Given the description of an element on the screen output the (x, y) to click on. 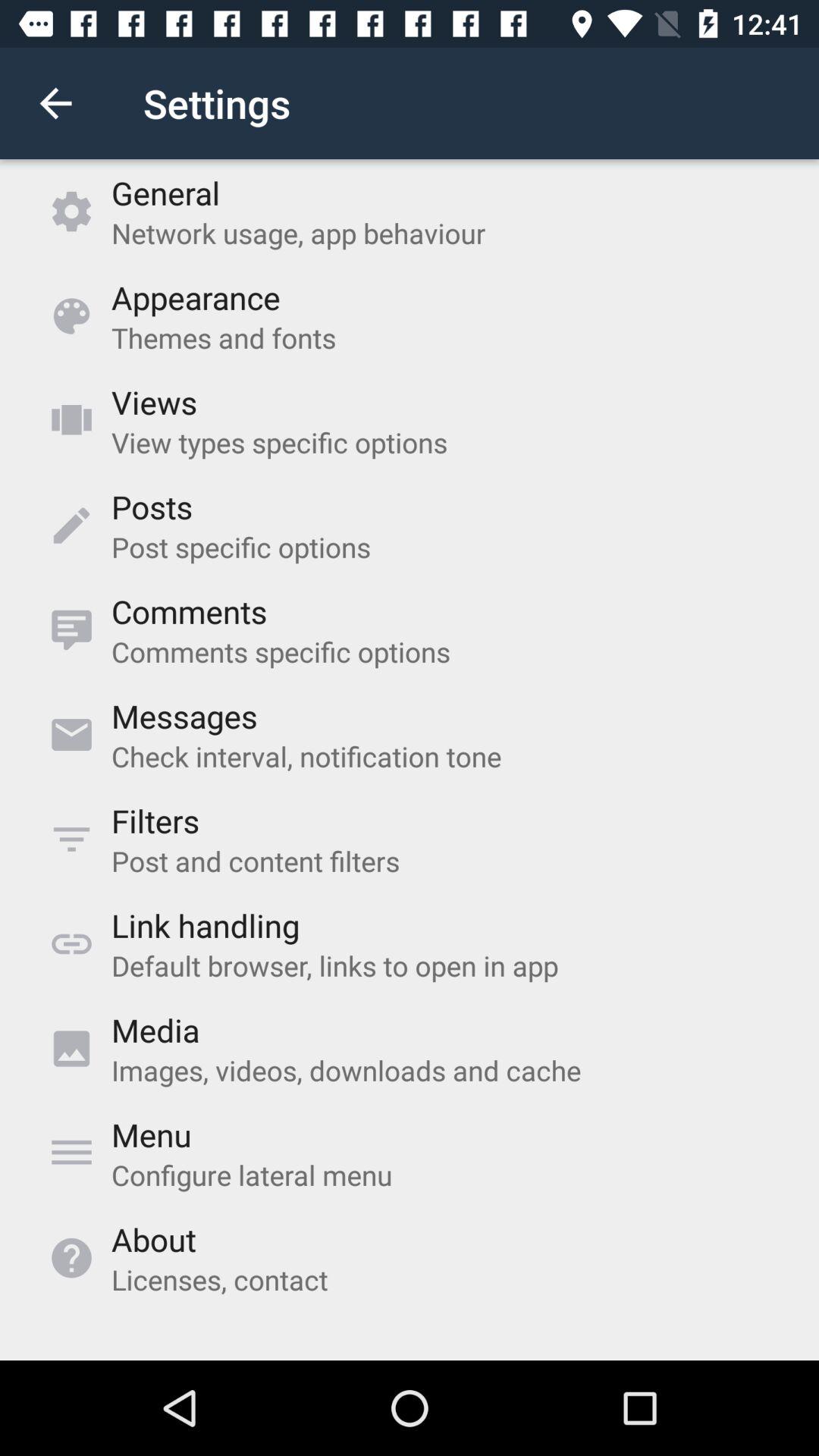
swipe to about item (153, 1238)
